Given the description of an element on the screen output the (x, y) to click on. 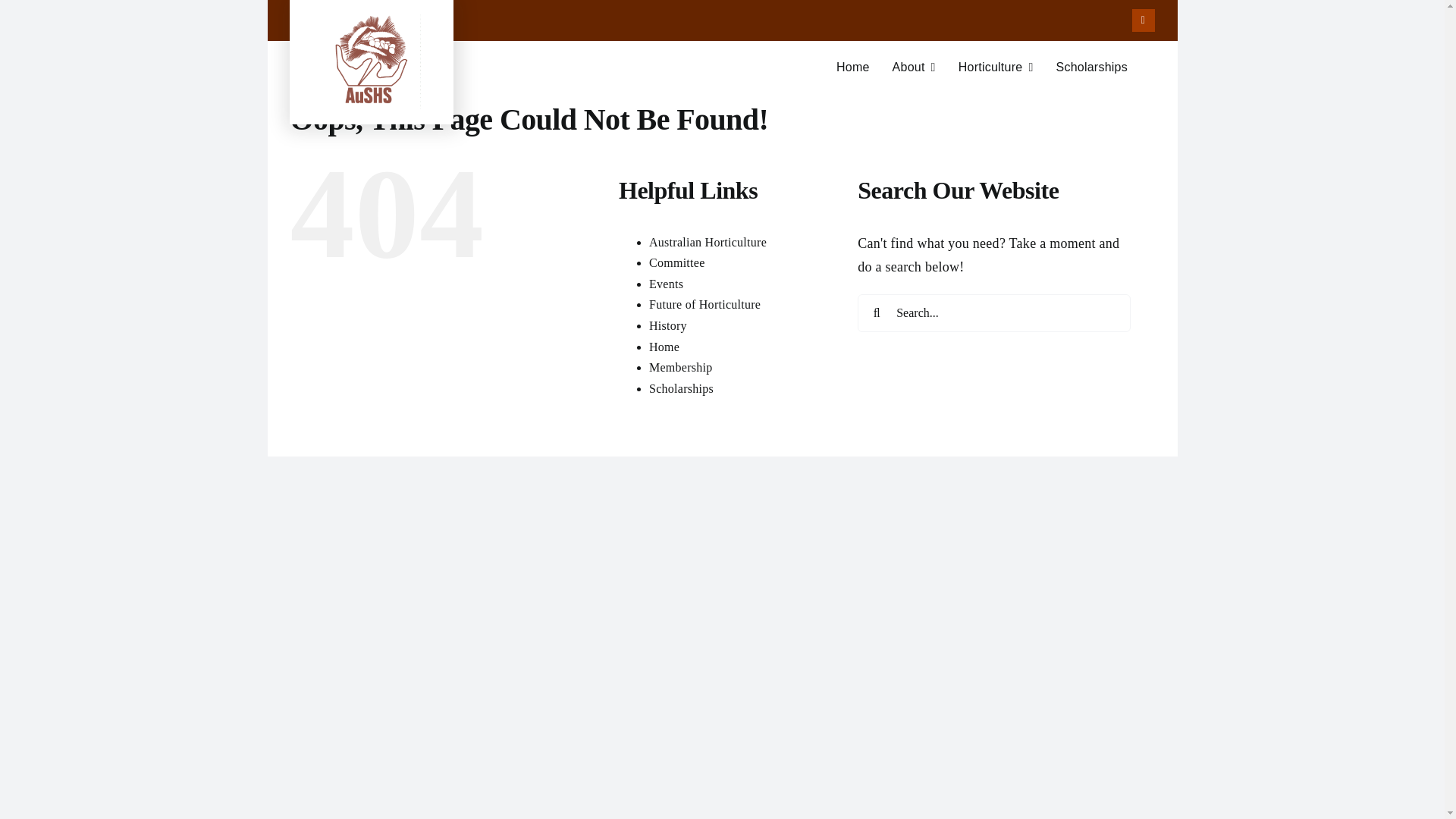
History (721, 74)
Australian Horticulture (668, 325)
Committee (708, 241)
Scholarships (676, 262)
Horticulture (681, 388)
Scholarships (995, 67)
Events (1090, 67)
Membership (665, 283)
Facebook (681, 367)
